Given the description of an element on the screen output the (x, y) to click on. 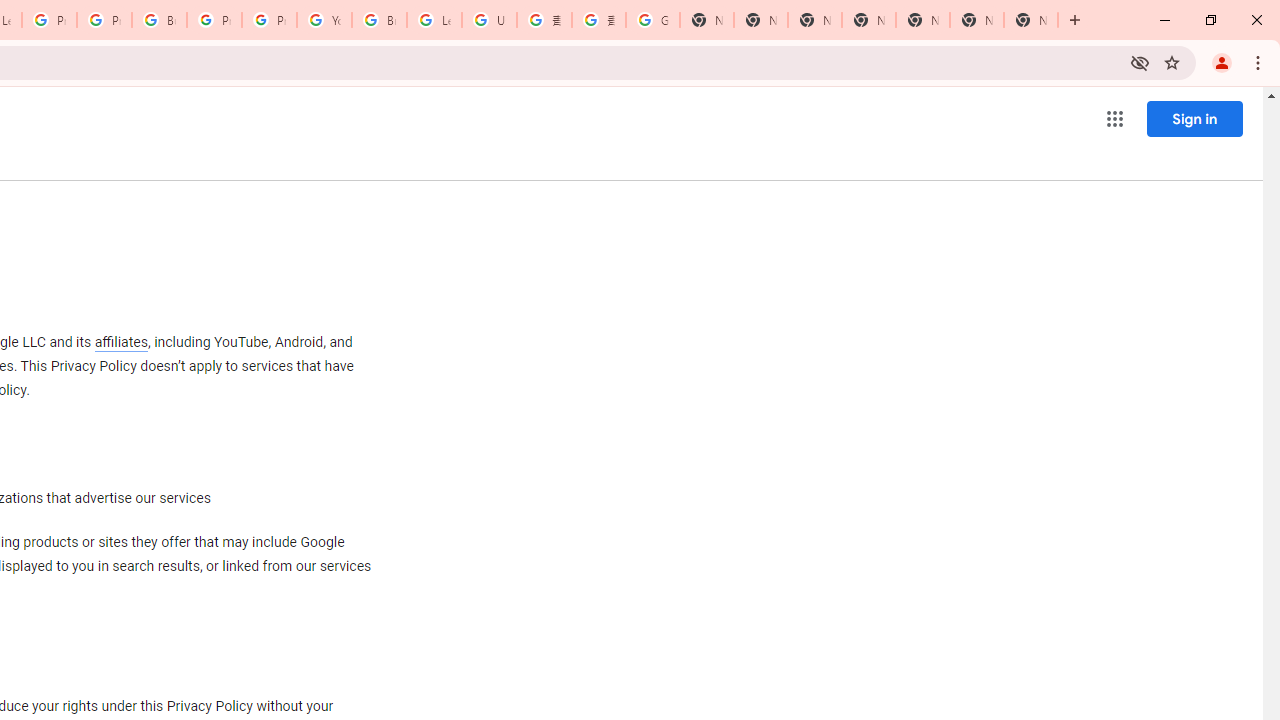
Privacy Help Center - Policies Help (103, 20)
New Tab (868, 20)
affiliates (120, 342)
